Given the description of an element on the screen output the (x, y) to click on. 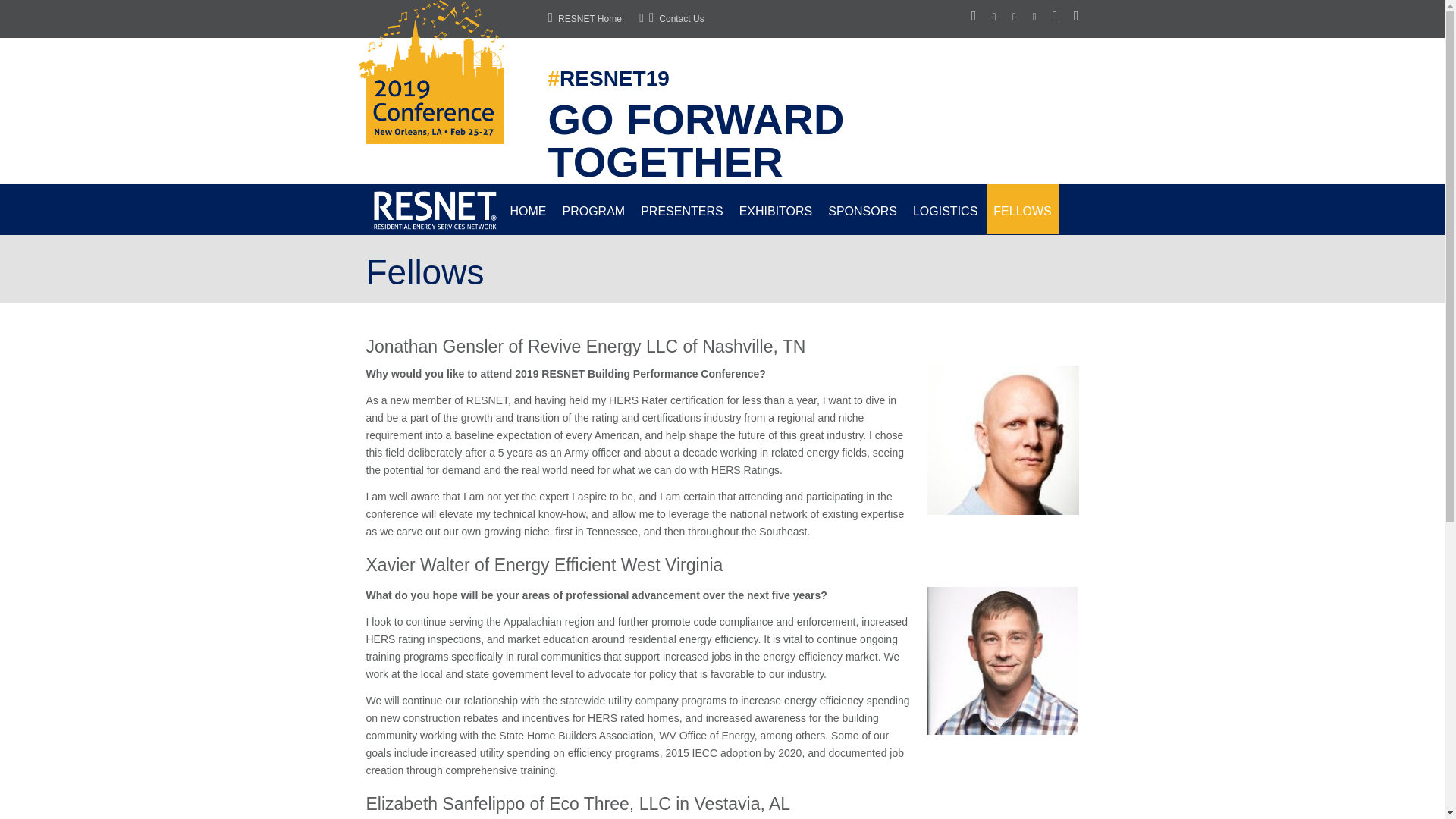
EXHIBITORS (776, 208)
Contact Us (671, 18)
RESNET Home (584, 18)
FELLOWS (1022, 208)
SPONSORS (863, 208)
HOME (528, 208)
PRESENTERS (681, 208)
LOGISTICS (945, 208)
PROGRAM (593, 208)
